Given the description of an element on the screen output the (x, y) to click on. 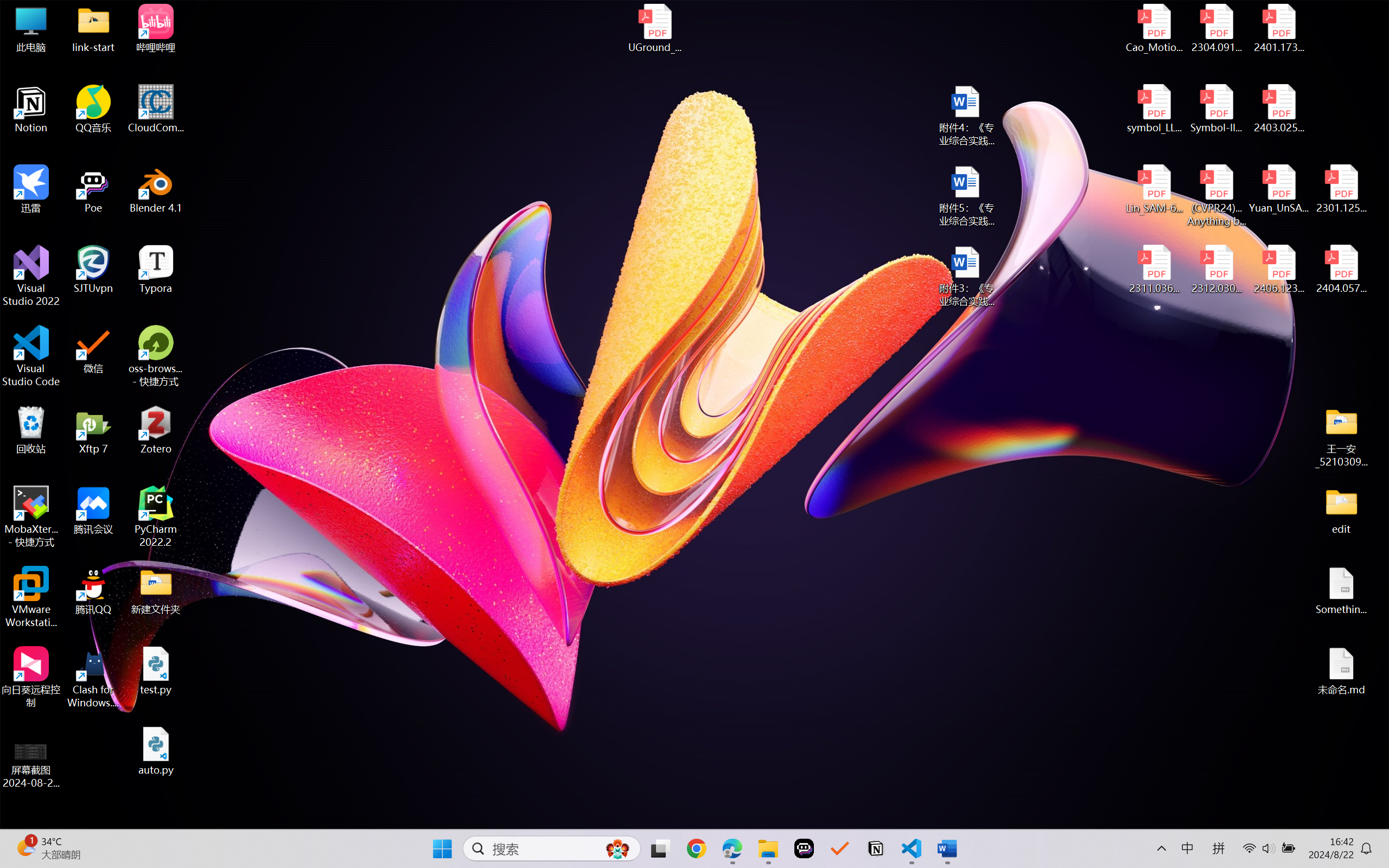
(CVPR24)Matching Anything by Segmenting Anything.pdf (1216, 195)
2301.12597v3.pdf (1340, 189)
Something.md (1340, 591)
2304.09121v3.pdf (1216, 28)
